Given the description of an element on the screen output the (x, y) to click on. 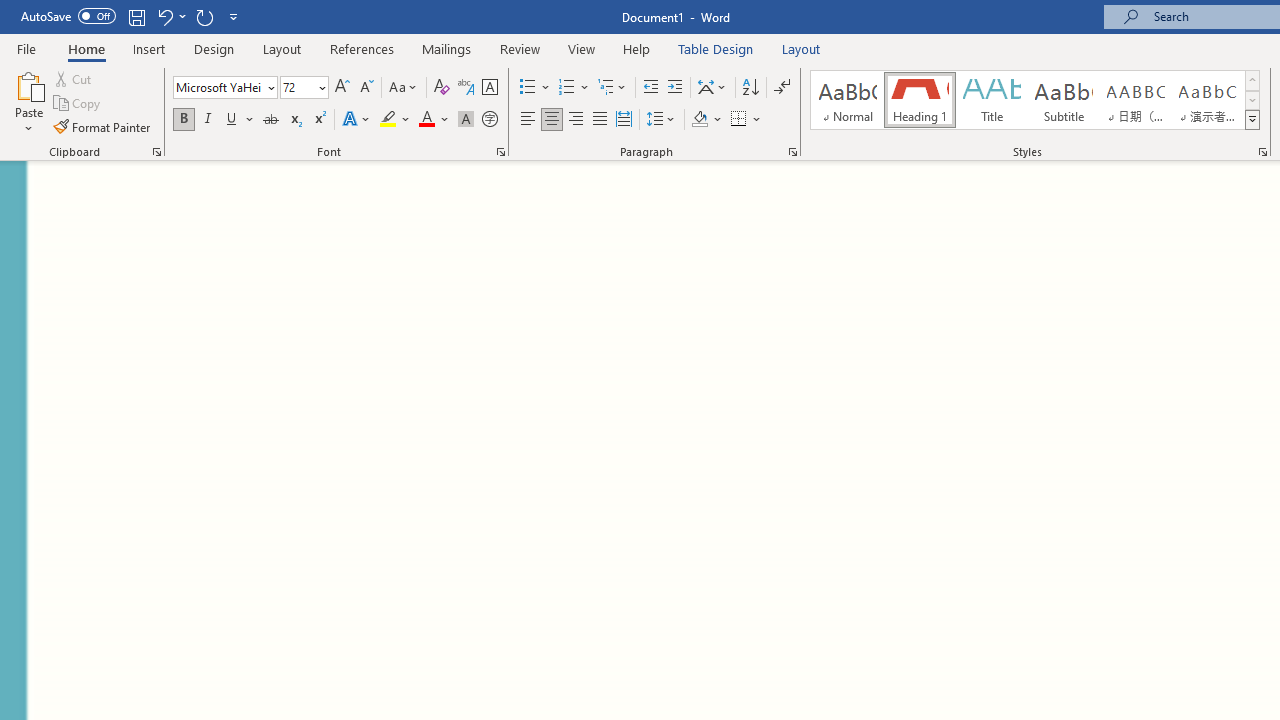
Show/Hide Editing Marks (781, 87)
Italic (207, 119)
Text Highlight Color (395, 119)
Paste (28, 102)
Class: NetUIImage (1252, 119)
Align Left (527, 119)
Change Case (404, 87)
Phonetic Guide... (465, 87)
Home (86, 48)
Increase Indent (675, 87)
Table Design (715, 48)
Font Size (304, 87)
Sort... (750, 87)
Numbering (566, 87)
